Given the description of an element on the screen output the (x, y) to click on. 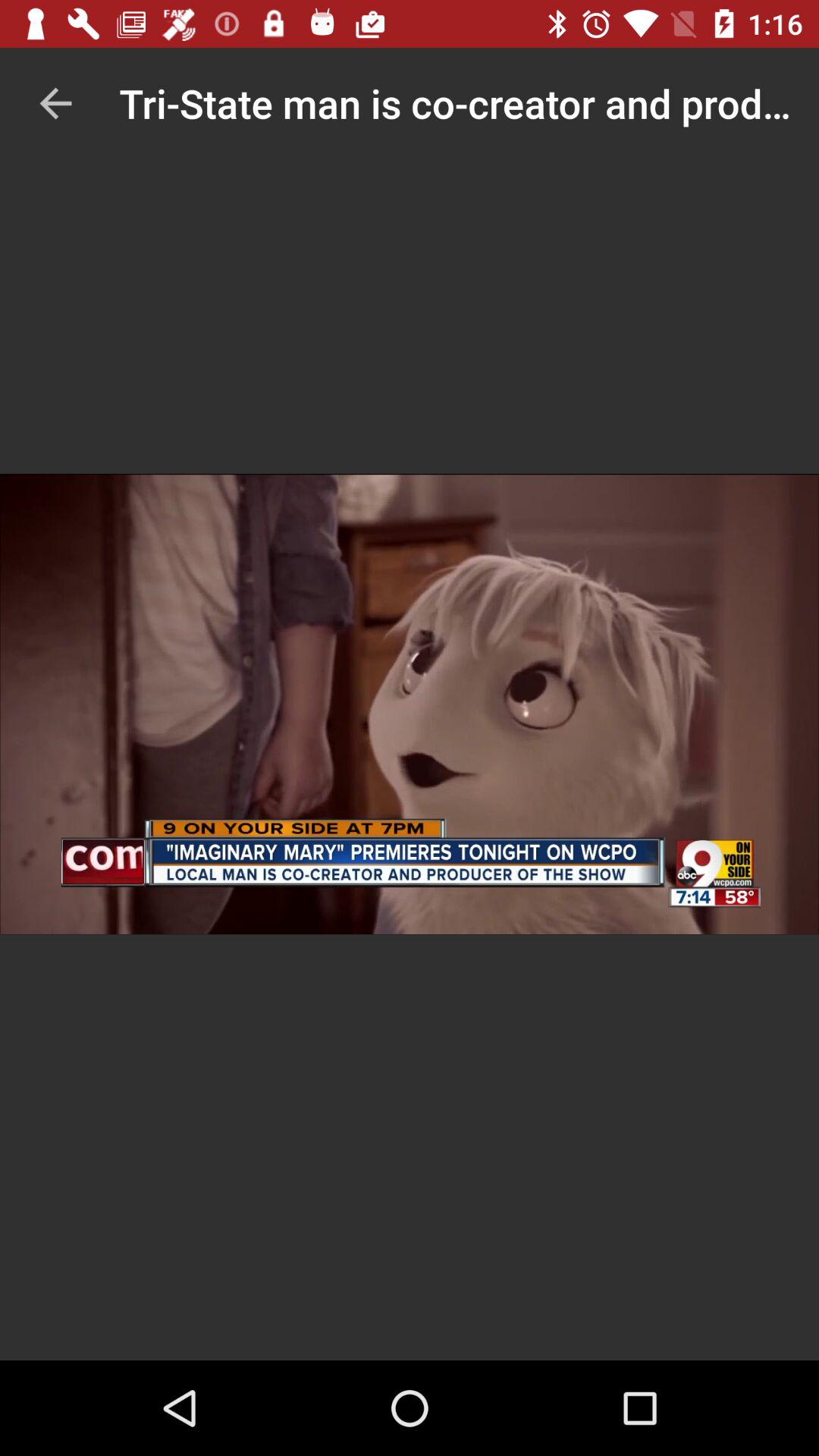
turn off the item next to tri state man icon (55, 103)
